Given the description of an element on the screen output the (x, y) to click on. 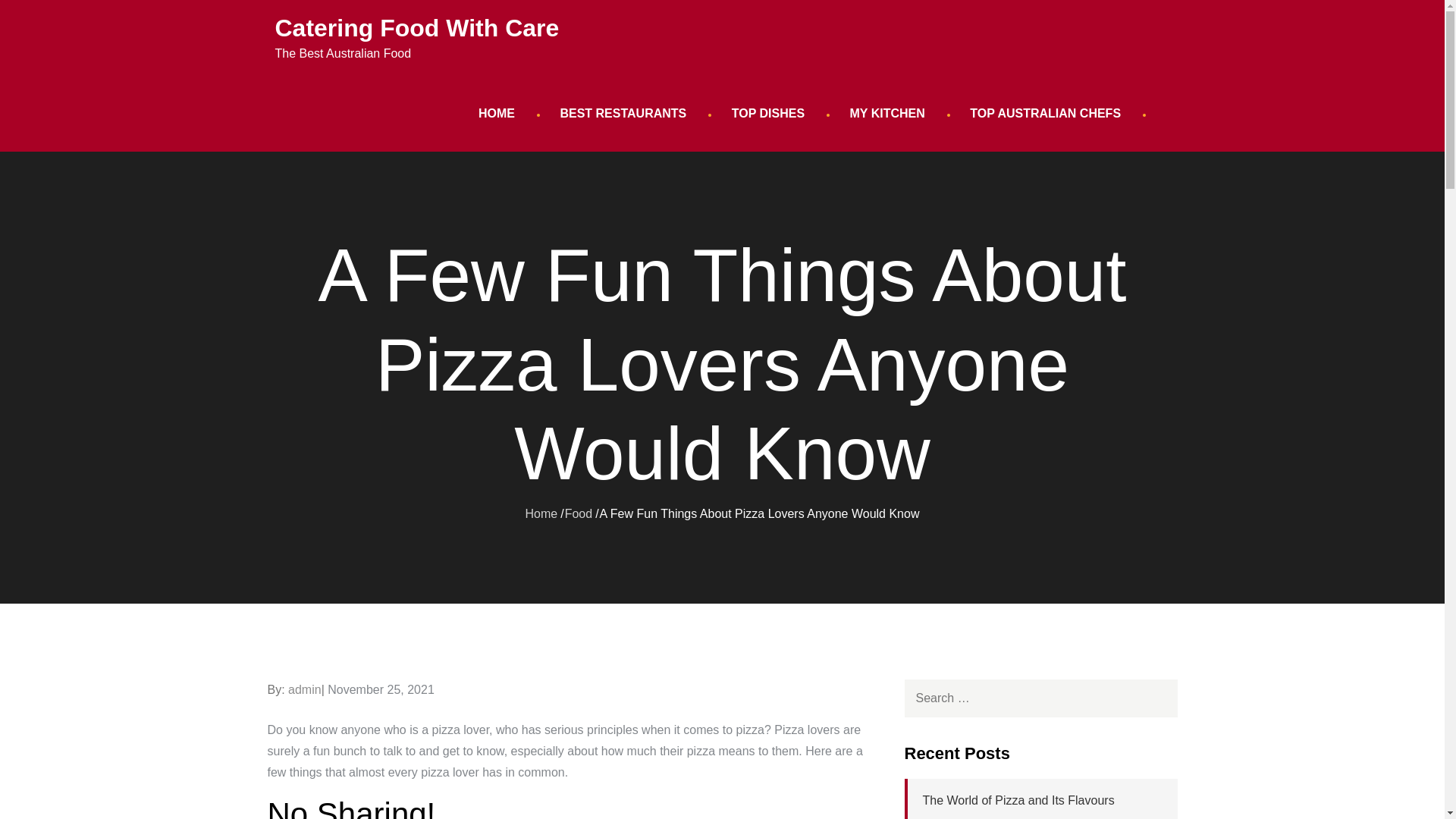
BEST RESTAURANTS (622, 113)
November 25, 2021 (380, 689)
Search (1157, 698)
TOP AUSTRALIAN CHEFS (1045, 113)
Home (541, 512)
The World of Pizza and Its Flavours (1017, 799)
Food (578, 512)
TOP DISHES (767, 113)
Catering Food With Care (417, 27)
MY KITCHEN (887, 113)
admin (304, 689)
